Given the description of an element on the screen output the (x, y) to click on. 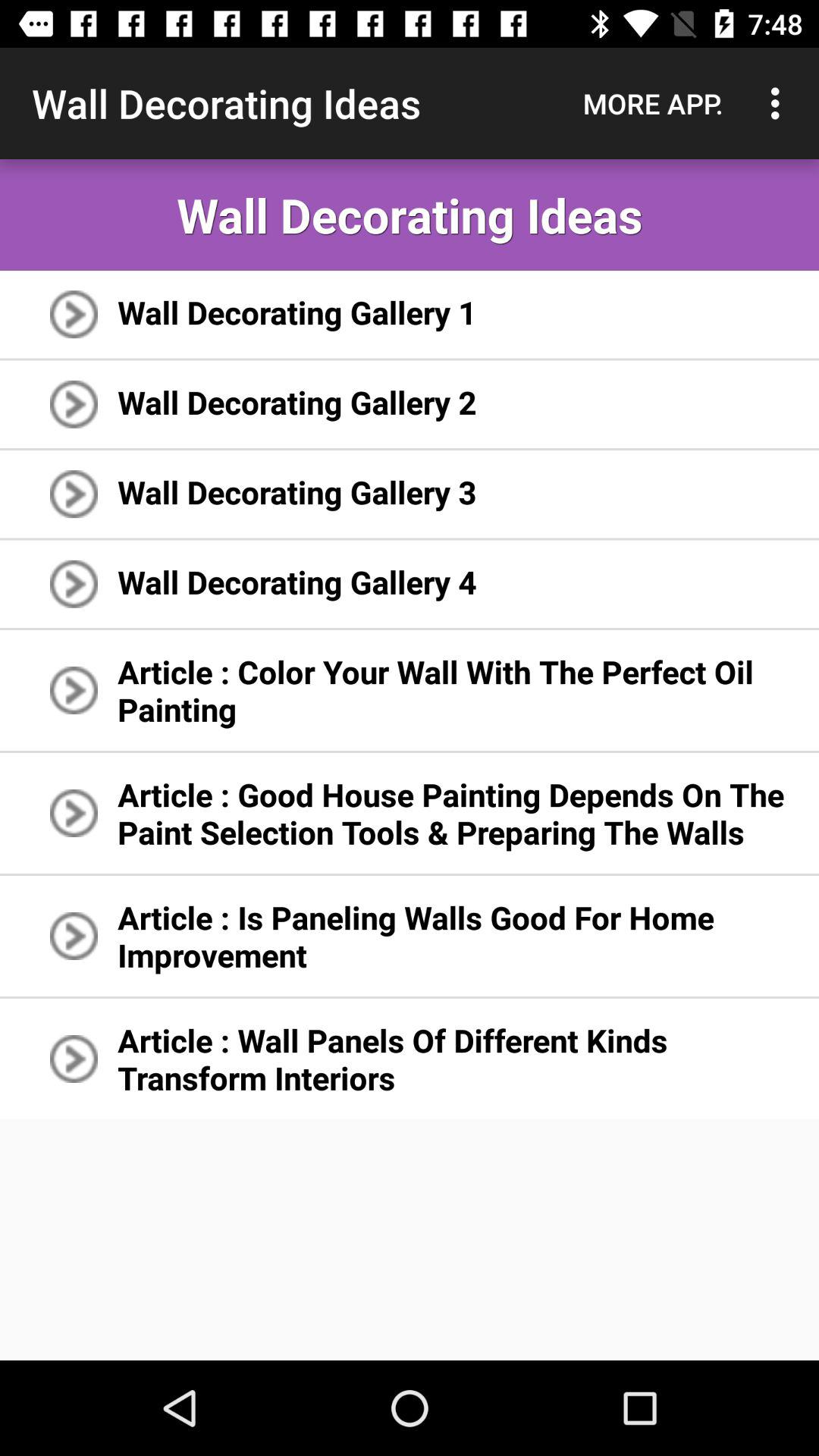
click the app next to the wall decorating ideas app (653, 103)
